Given the description of an element on the screen output the (x, y) to click on. 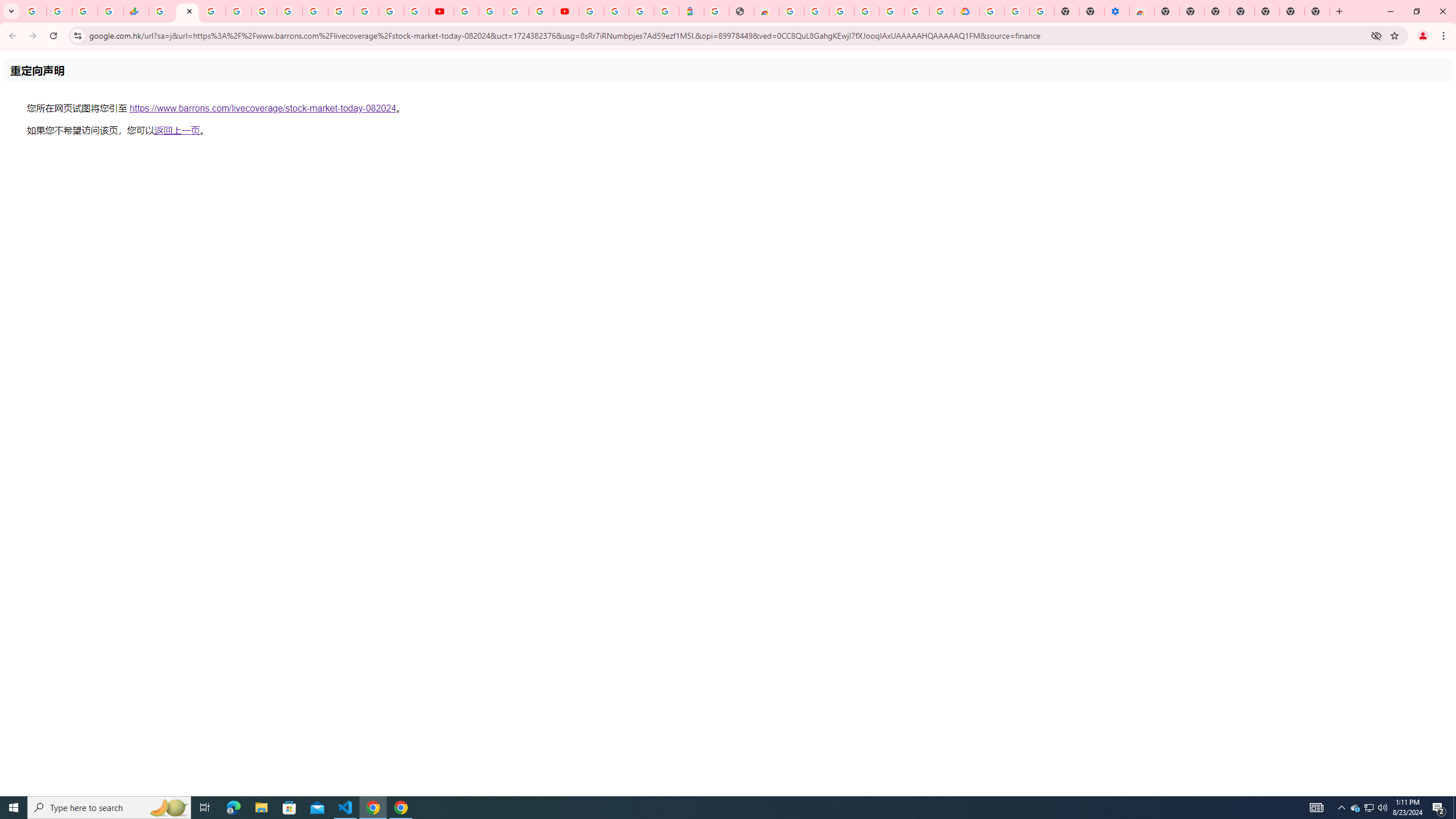
Sign in - Google Accounts (365, 11)
YouTube (440, 11)
Sign in - Google Accounts (991, 11)
Android TV Policies and Guidelines - Transparency Center (315, 11)
Sign in - Google Accounts (916, 11)
